Given the description of an element on the screen output the (x, y) to click on. 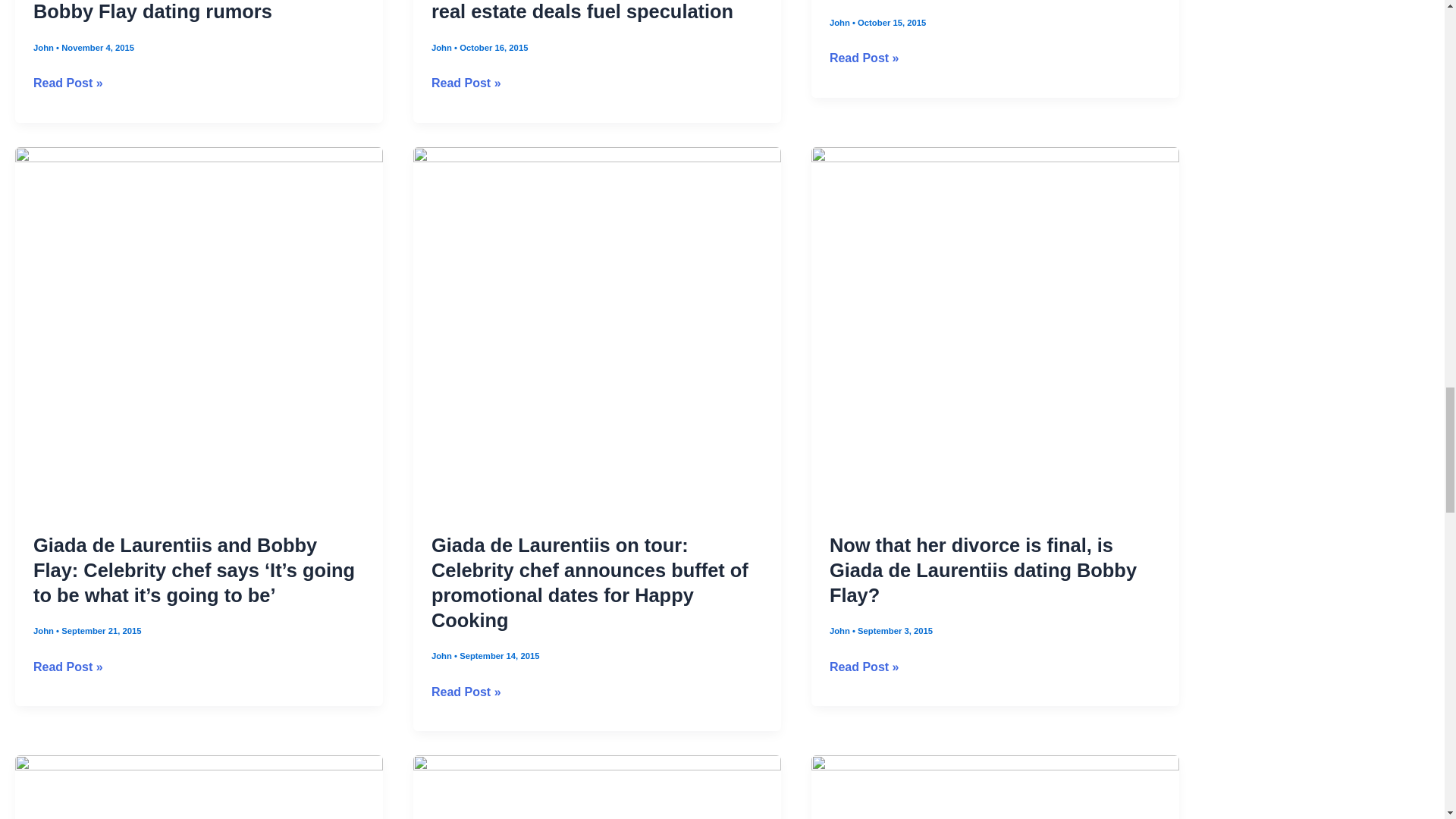
View all posts by John (442, 47)
View all posts by John (840, 630)
View all posts by John (44, 47)
View all posts by John (840, 22)
View all posts by John (442, 655)
View all posts by John (44, 630)
